Given the description of an element on the screen output the (x, y) to click on. 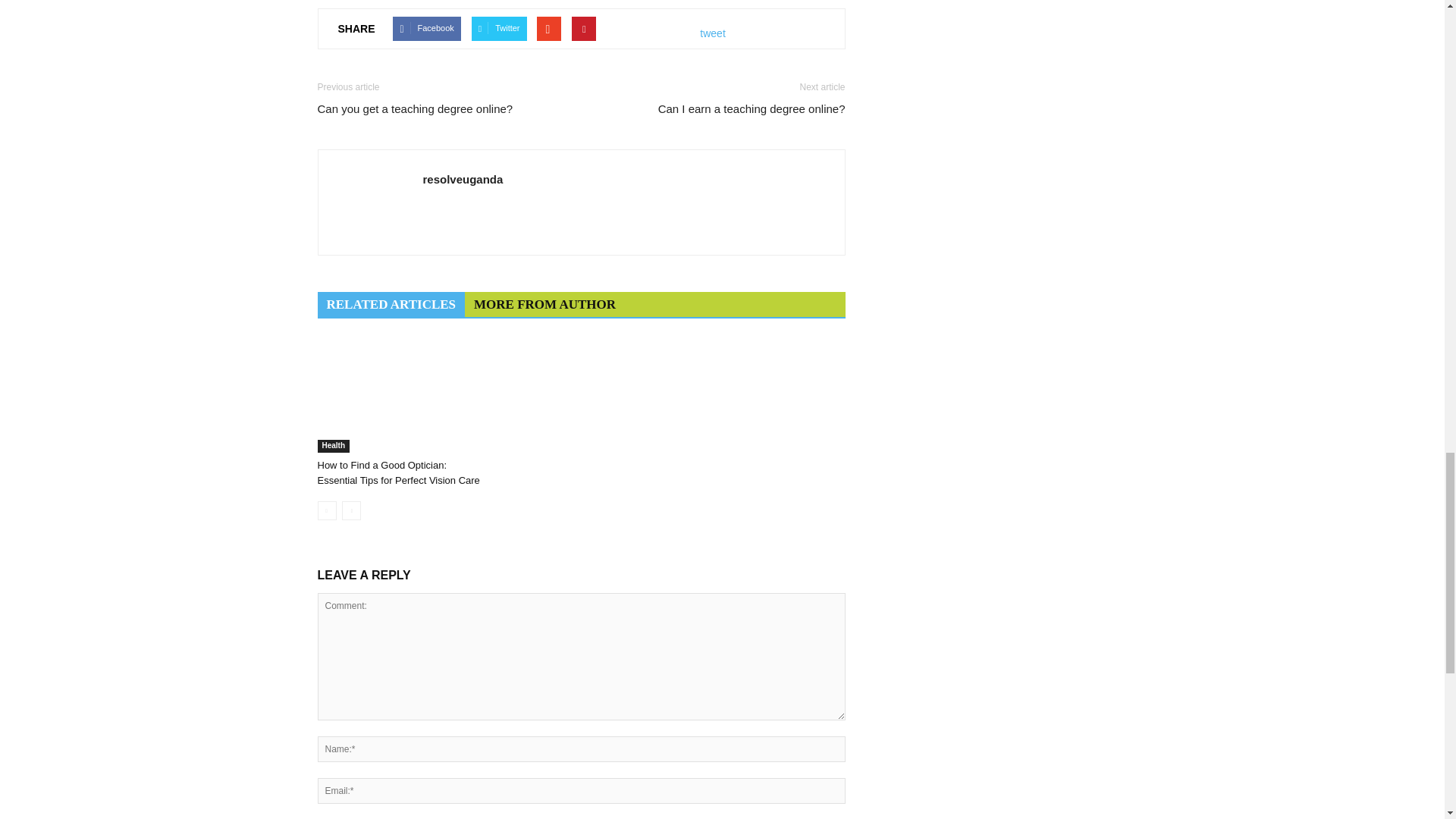
Facebook (426, 28)
Twitter (499, 28)
